Given the description of an element on the screen output the (x, y) to click on. 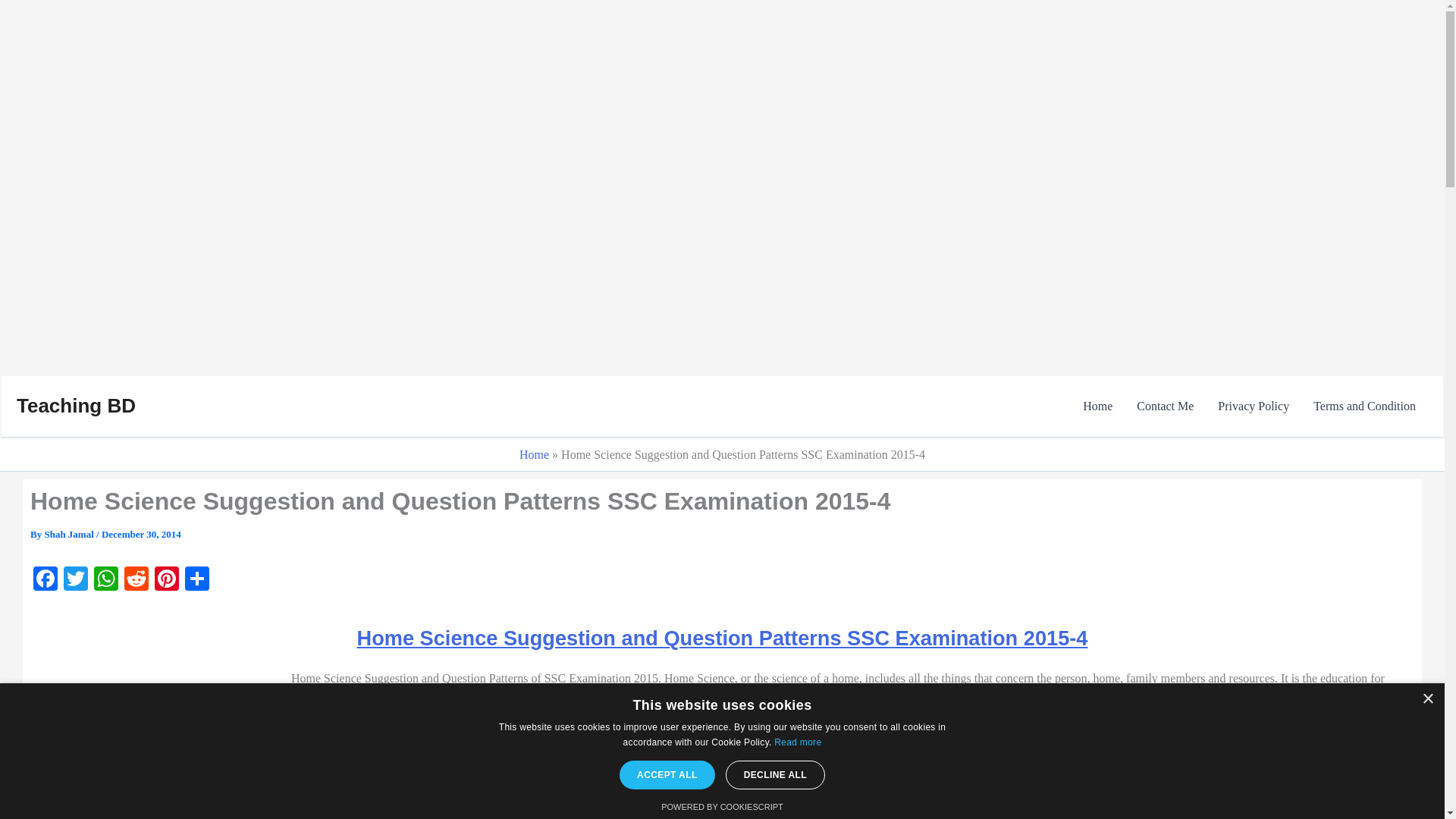
WhatsApp (105, 580)
Reddit (135, 580)
Twitter (75, 580)
Teaching BD (75, 404)
Facebook (45, 580)
Terms and Condition (1364, 405)
Pinterest (166, 580)
Privacy Policy (1253, 405)
Home (1097, 405)
View all posts by Shah Jamal (69, 533)
Contact Me (1164, 405)
